Given the description of an element on the screen output the (x, y) to click on. 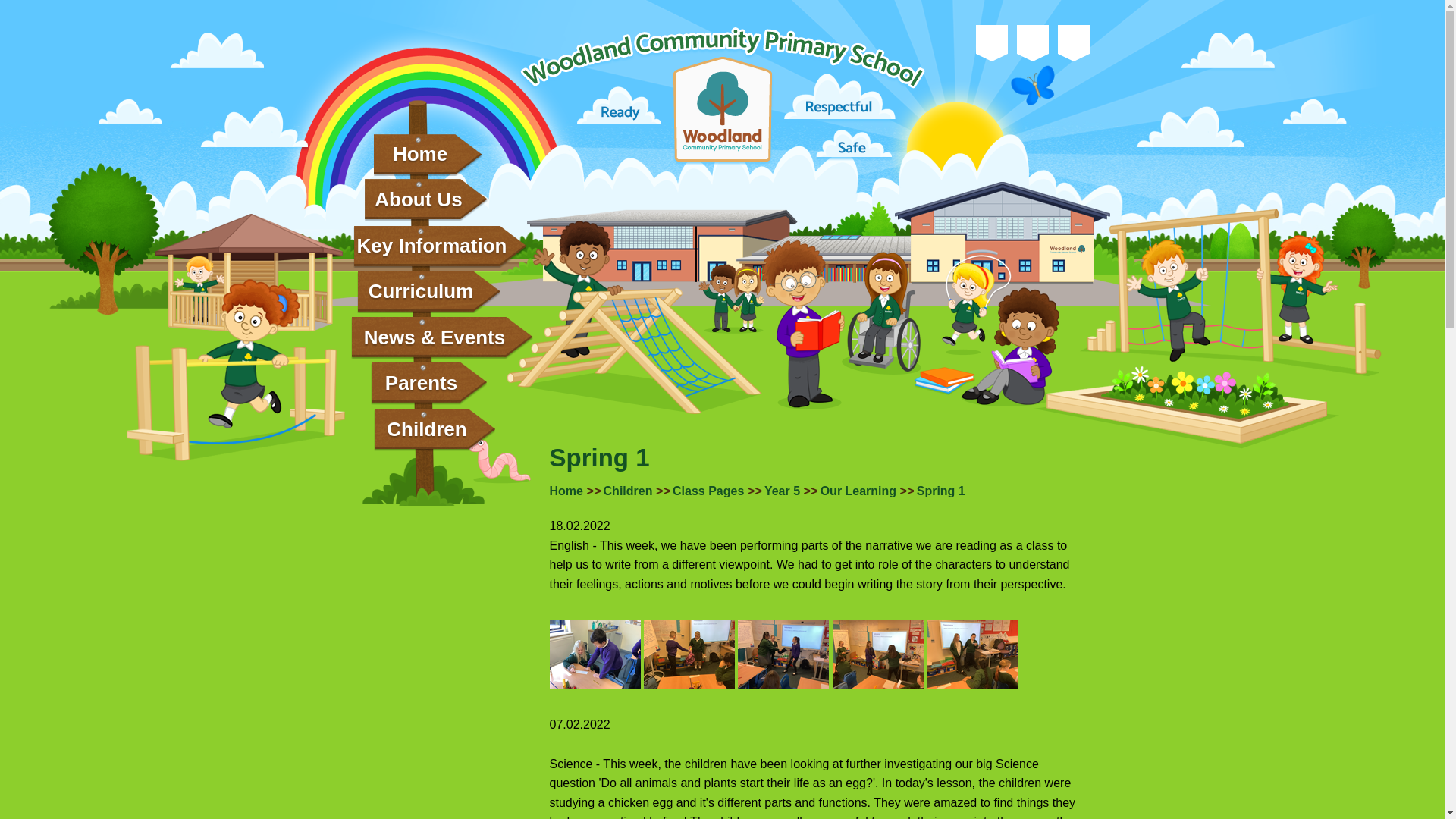
Search (991, 39)
Home Page (722, 96)
Key Information (439, 246)
Home (426, 154)
About Us (425, 200)
Log In (1073, 39)
Log in (1073, 39)
Translate (1032, 39)
